Given the description of an element on the screen output the (x, y) to click on. 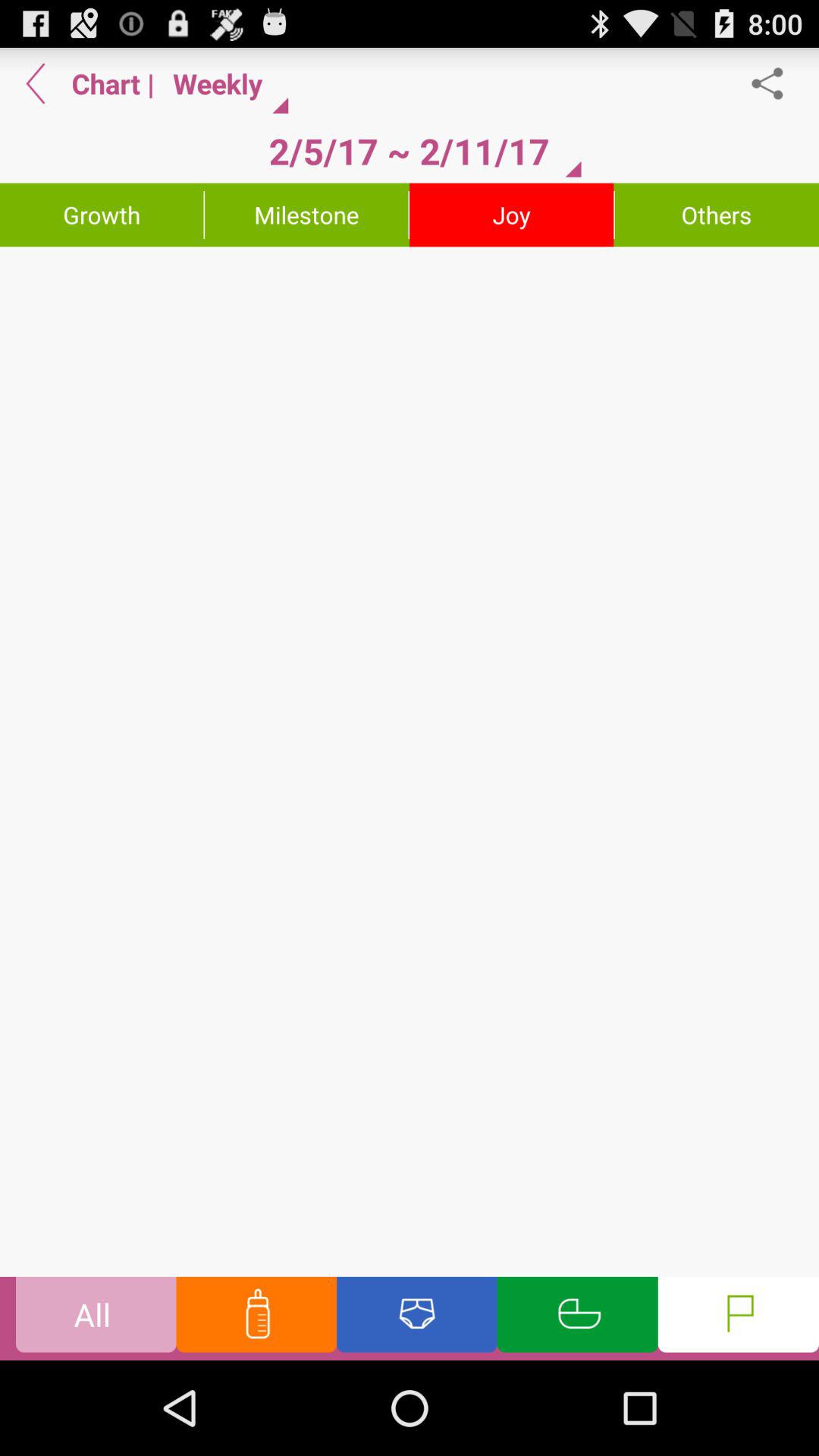
open others item (716, 214)
